Given the description of an element on the screen output the (x, y) to click on. 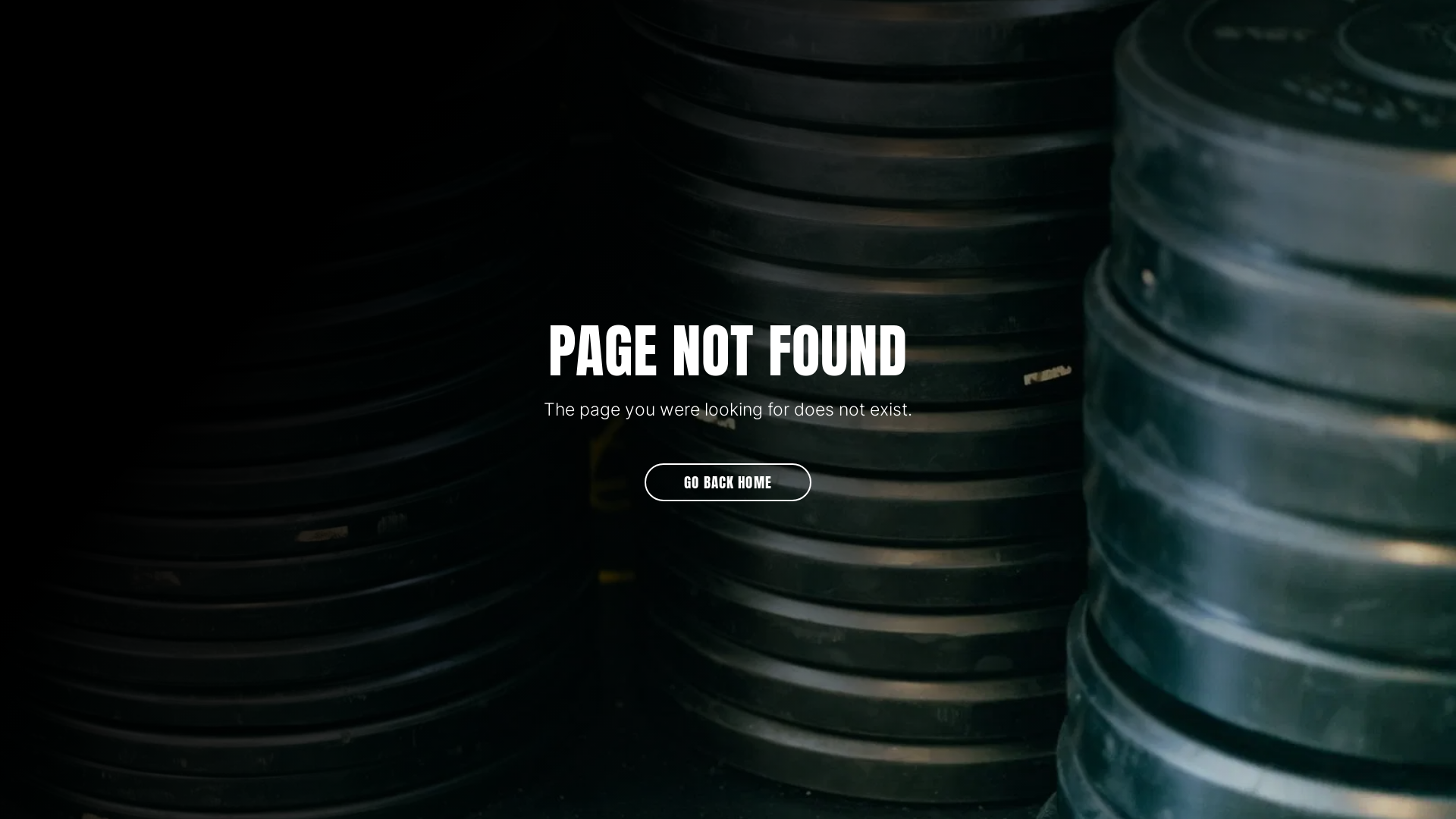
GO BACK HOME Element type: text (727, 482)
